Given the description of an element on the screen output the (x, y) to click on. 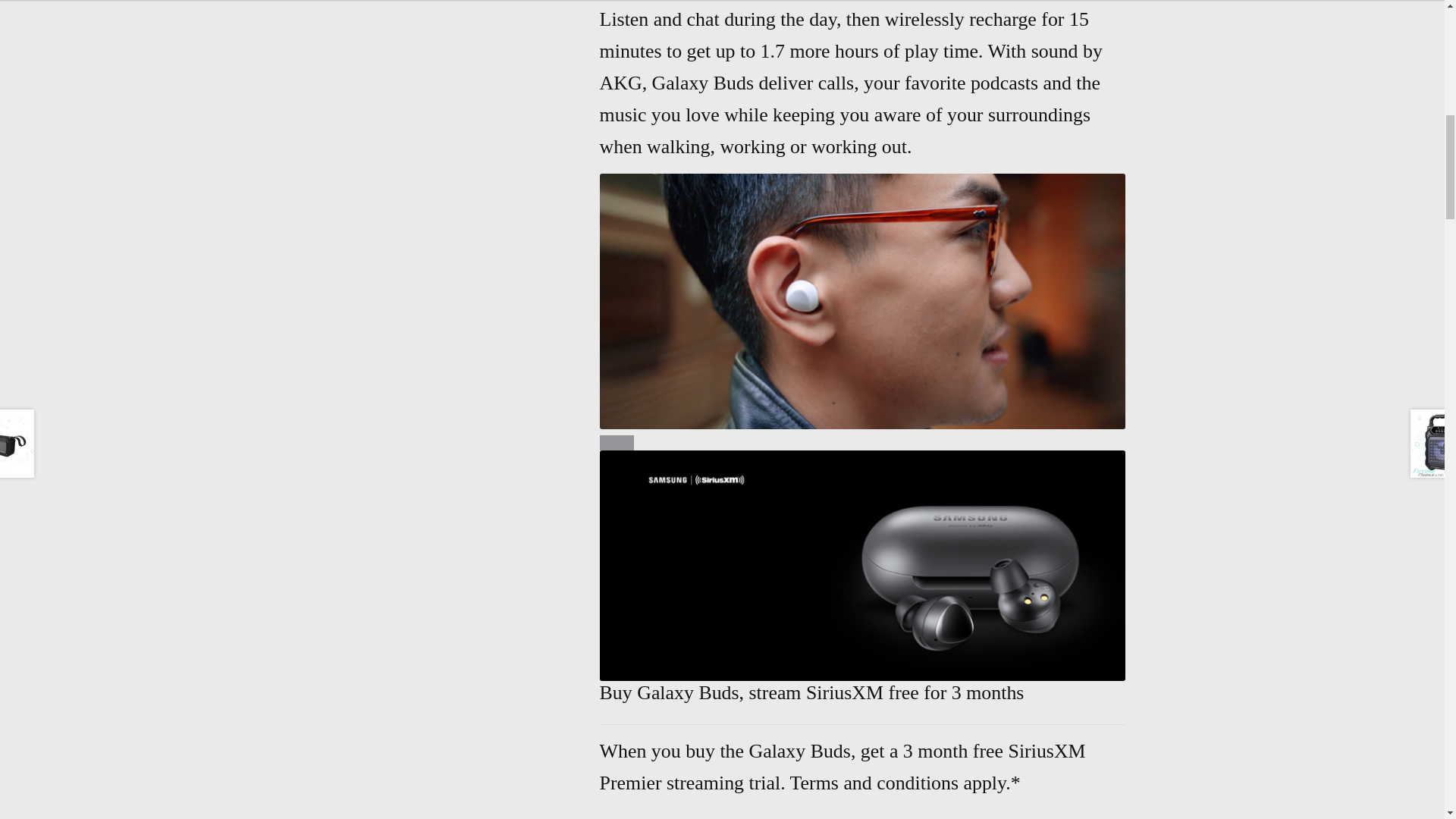
Buy Galaxy Buds, stream SiriusXM free for 3 months (862, 565)
